Given the description of an element on the screen output the (x, y) to click on. 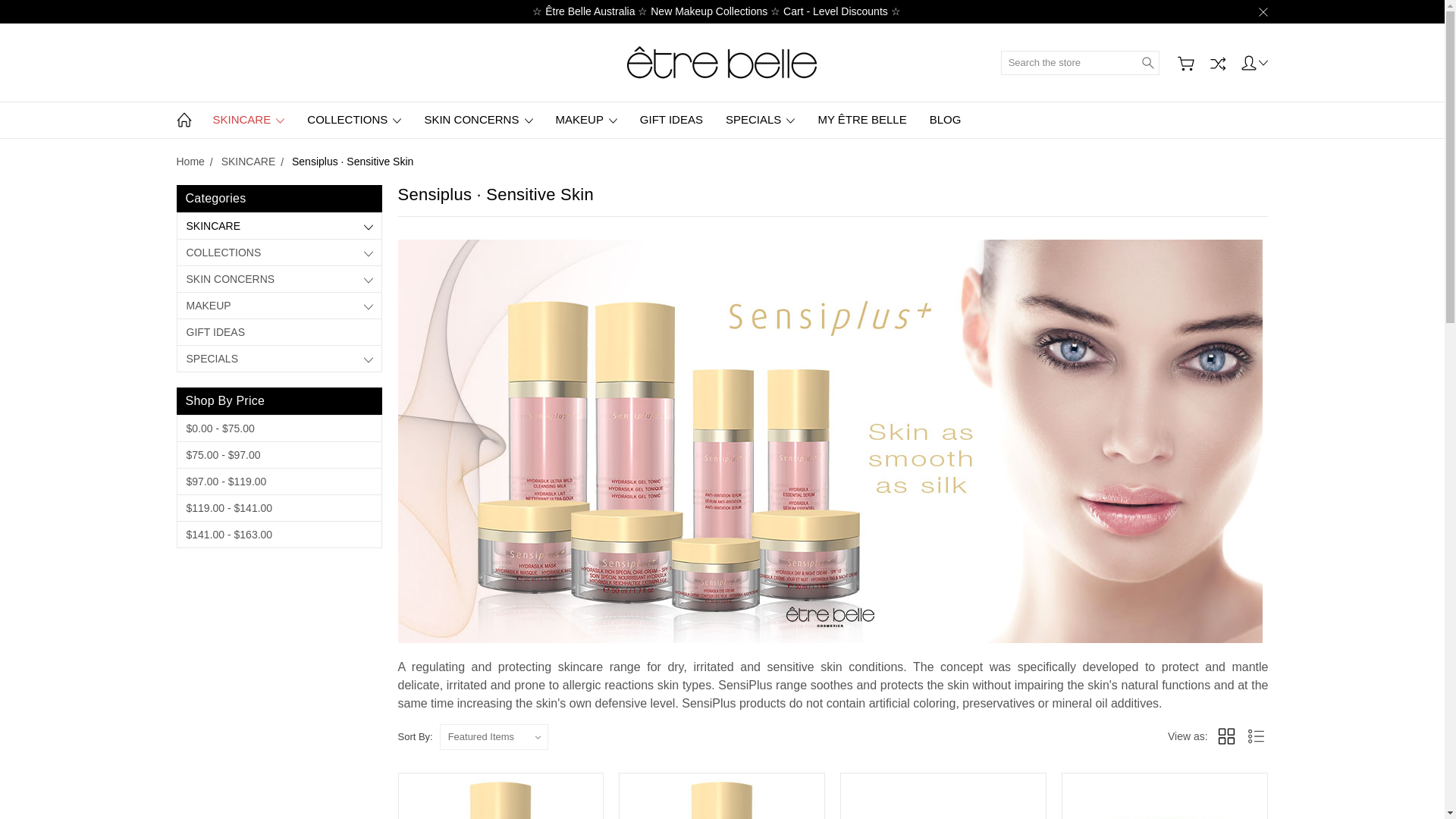
Search (1147, 61)
Compare (1217, 62)
cream for sensitive skin  (943, 796)
gel-tonic for sensitive skin (722, 796)
Search (1147, 61)
rich cream for sensitive skin (1164, 799)
cleansing milk  for sensitive skin  (501, 796)
